Given the description of an element on the screen output the (x, y) to click on. 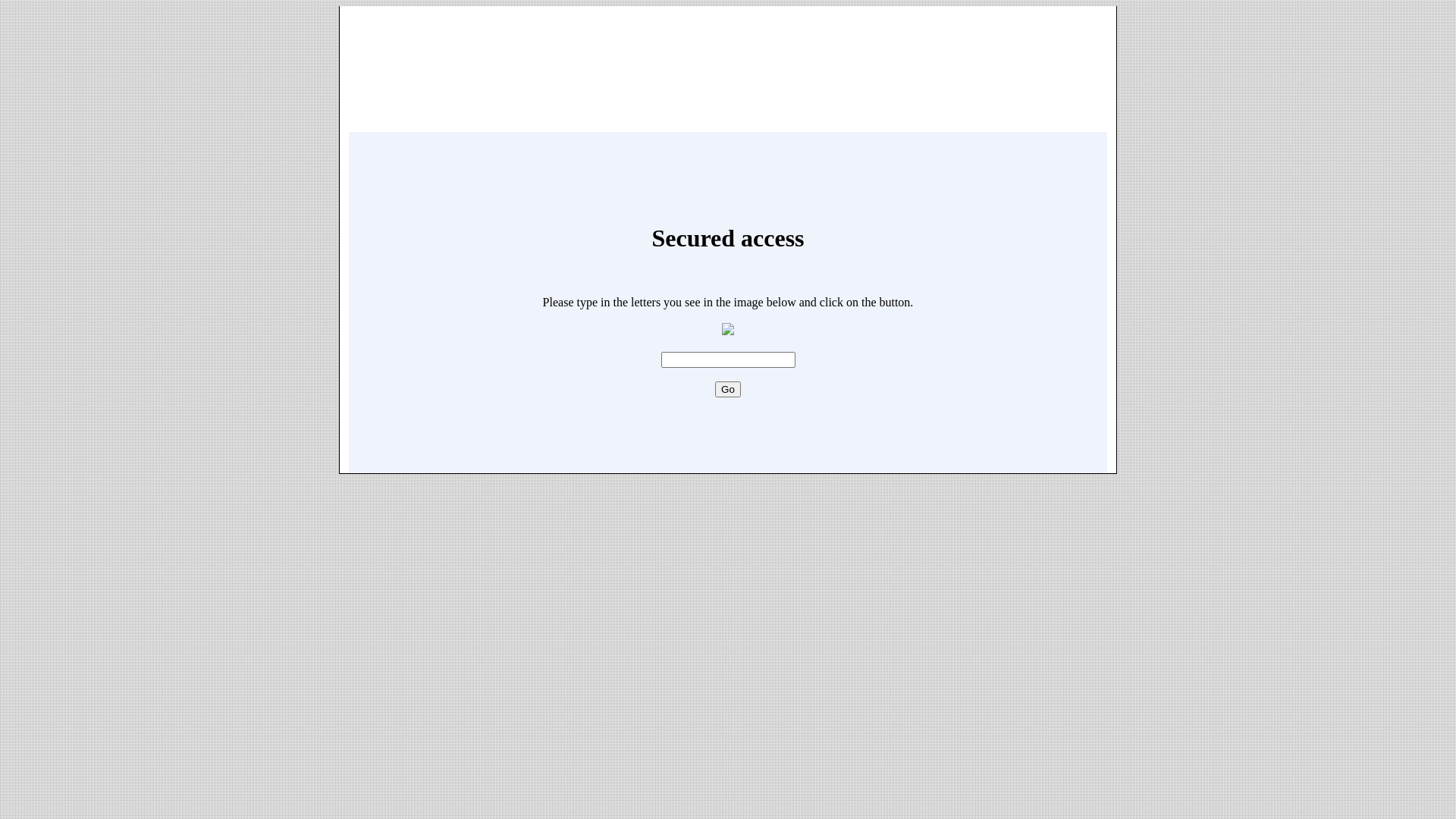
Go Element type: text (727, 389)
